Given the description of an element on the screen output the (x, y) to click on. 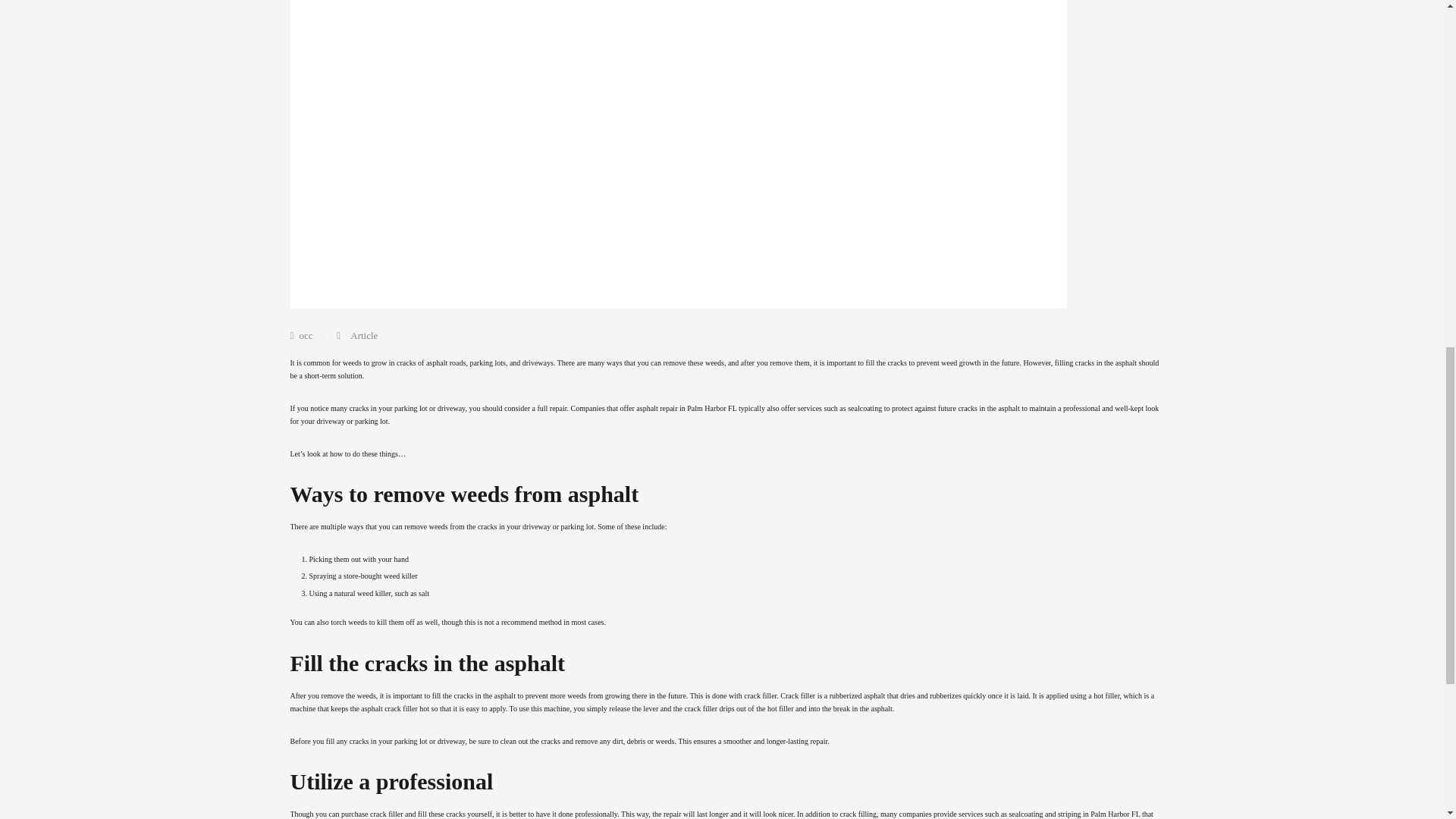
Article (363, 335)
asphalt repair in Palm Harbor FL (686, 408)
occ (305, 335)
